Given the description of an element on the screen output the (x, y) to click on. 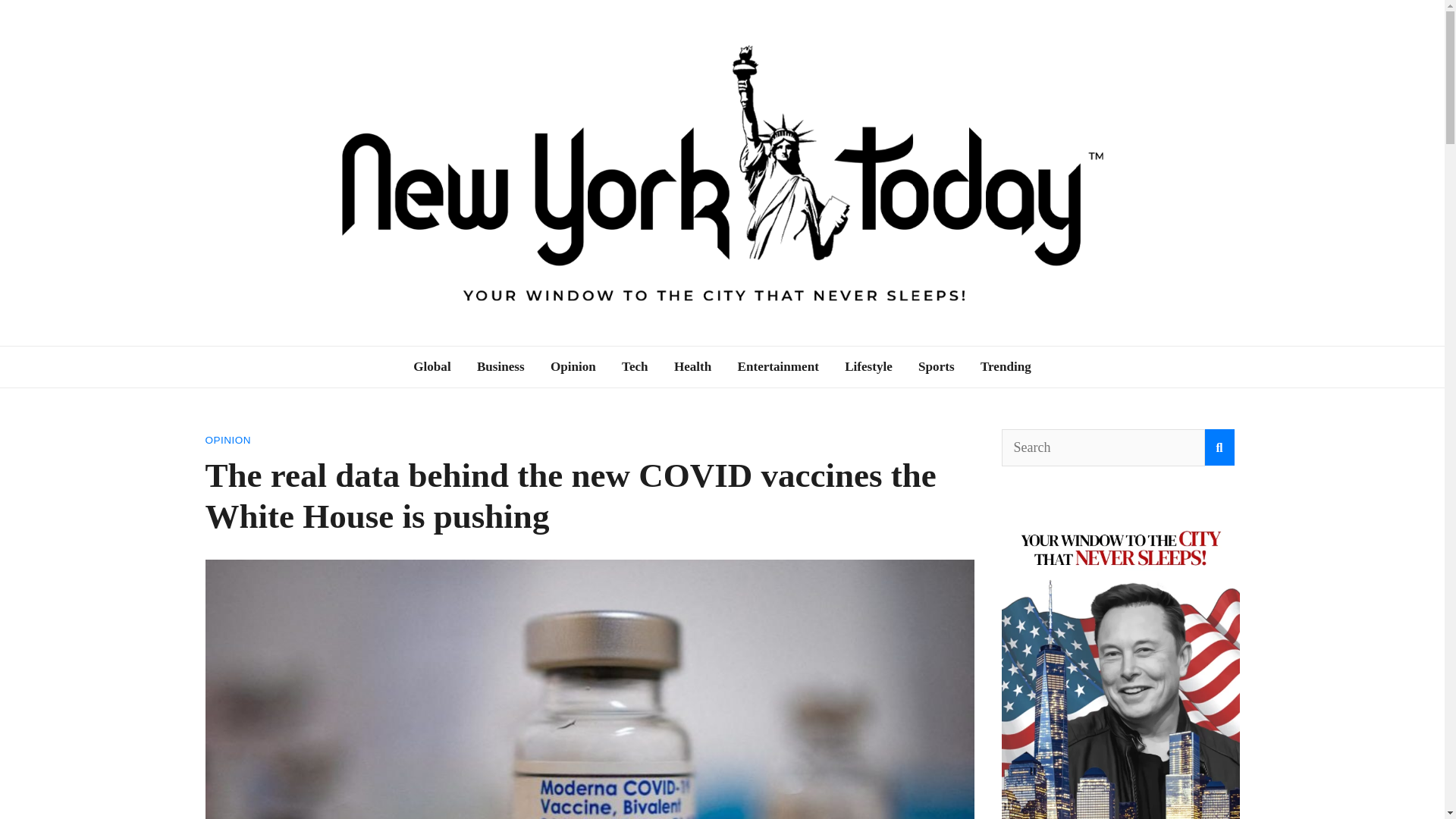
Sports (936, 366)
Business (500, 366)
Entertainment (777, 366)
Opinion (572, 366)
Health (692, 366)
Lifestyle (868, 366)
New York Today (348, 355)
Trending (1005, 366)
